Given the description of an element on the screen output the (x, y) to click on. 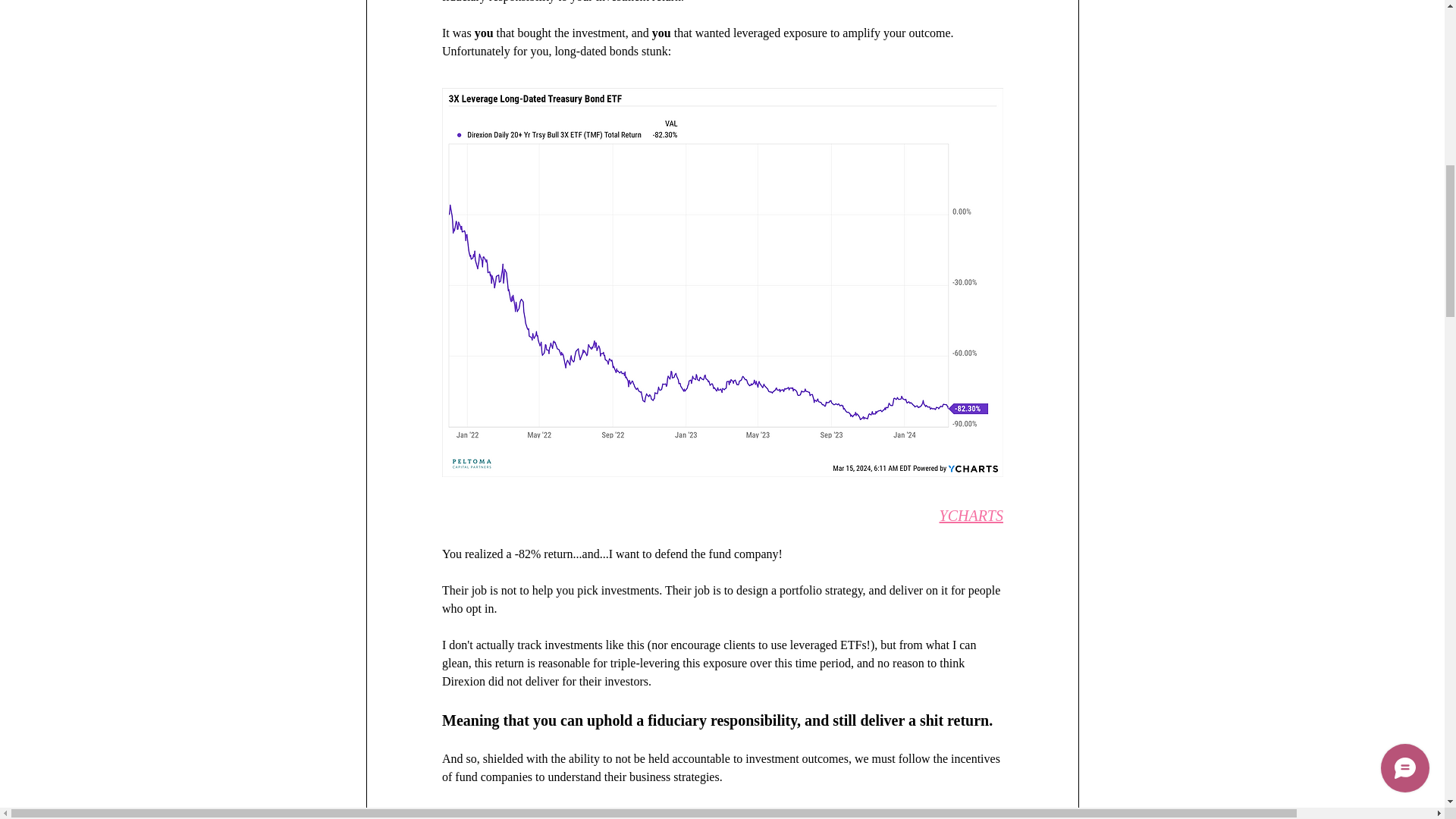
YCHARTS (971, 516)
